Given the description of an element on the screen output the (x, y) to click on. 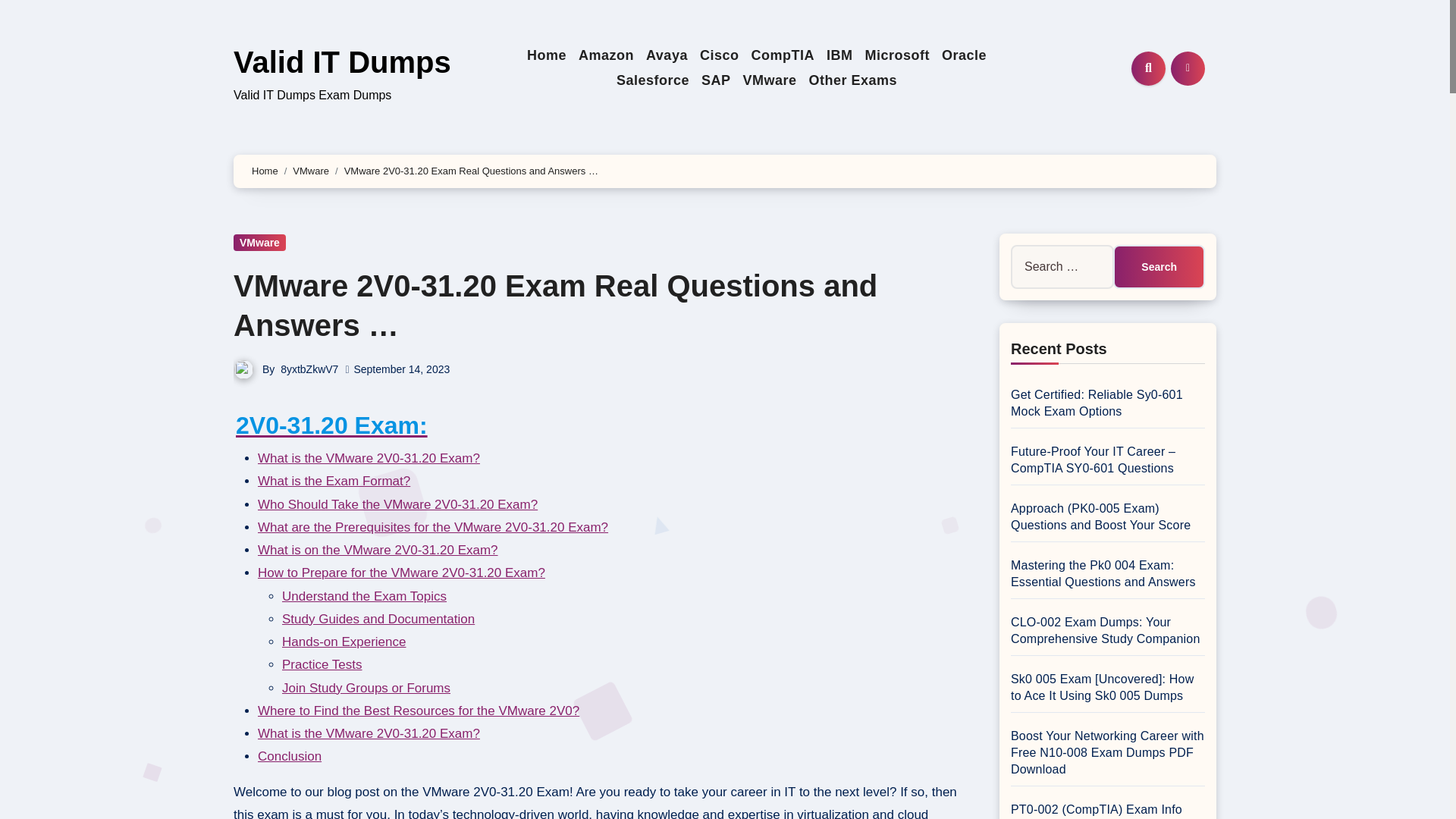
VMware (769, 80)
IBM (840, 55)
Study Guides and Documentation (378, 618)
Oracle (964, 55)
Salesforce (652, 80)
Understand the Exam Topics (364, 595)
CompTIA (782, 55)
IBM (840, 55)
Salesforce (652, 80)
Home (546, 55)
